Given the description of an element on the screen output the (x, y) to click on. 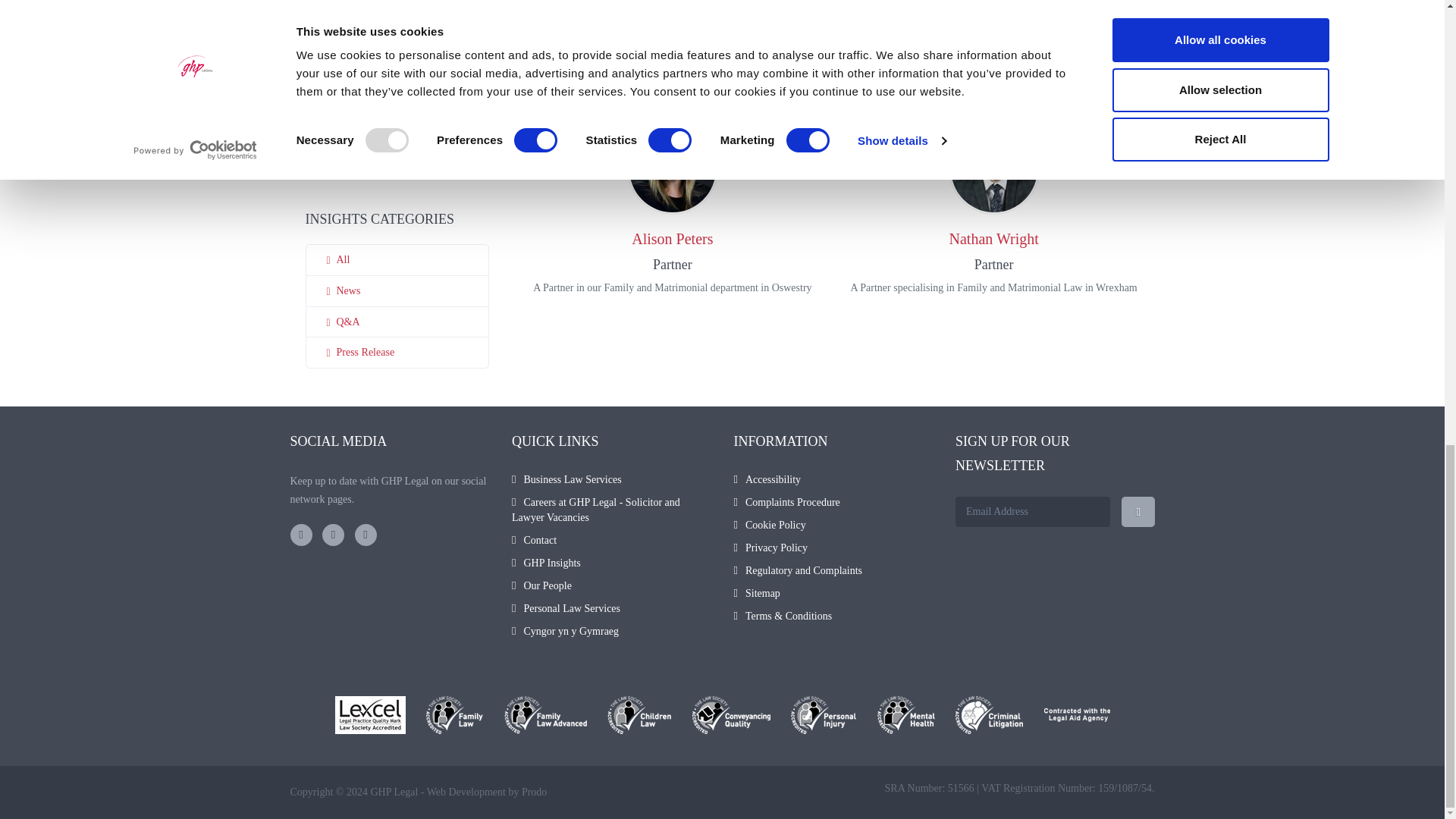
Law Society Accredited - Family Law (454, 714)
Like us on Facebook (300, 535)
Follow us on LinkedIn (366, 535)
Follow us on Twitter (332, 535)
Law Society Accredited - Lexcel (370, 714)
